Given the description of an element on the screen output the (x, y) to click on. 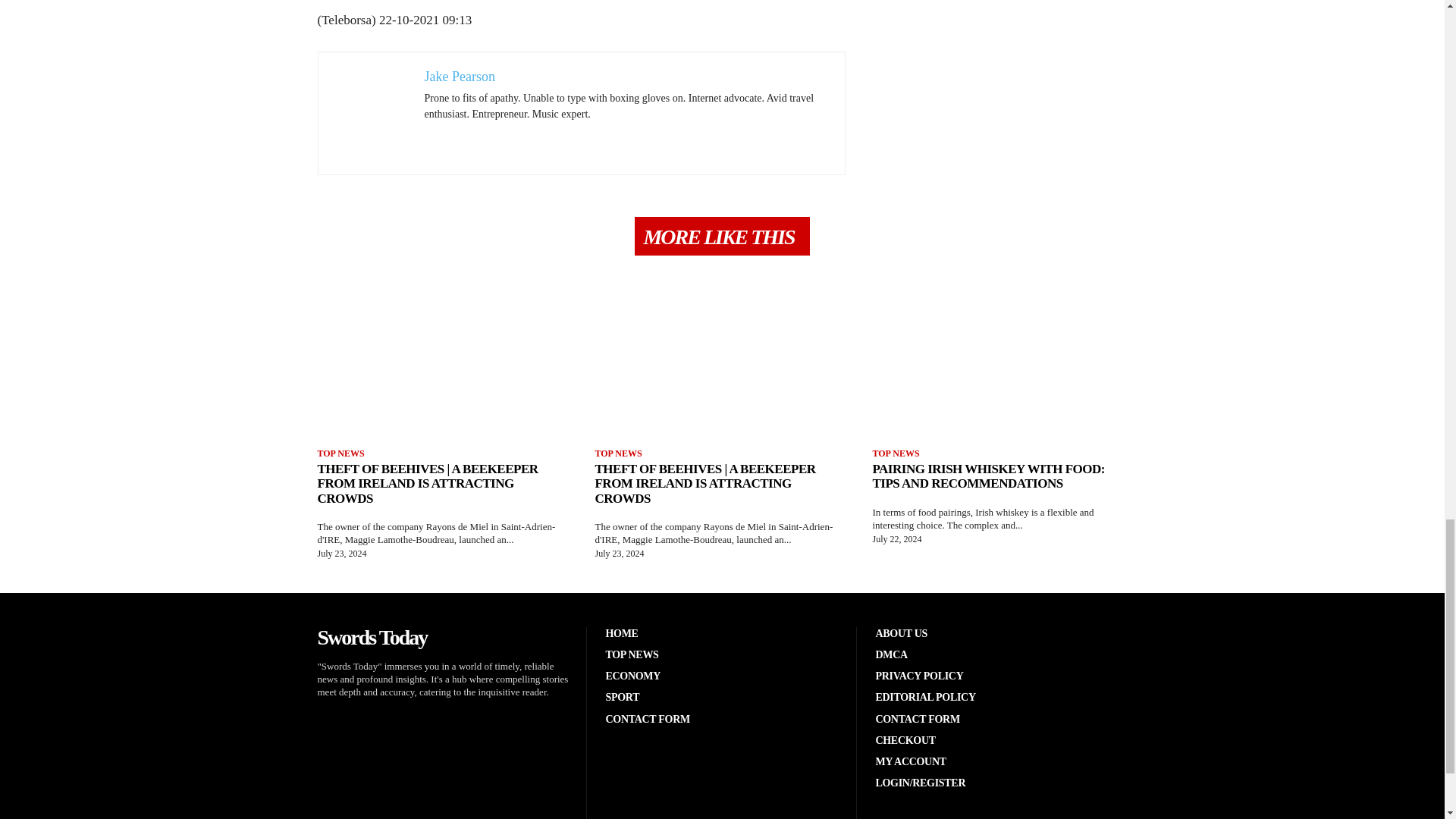
Jake Pearson (460, 76)
